Given the description of an element on the screen output the (x, y) to click on. 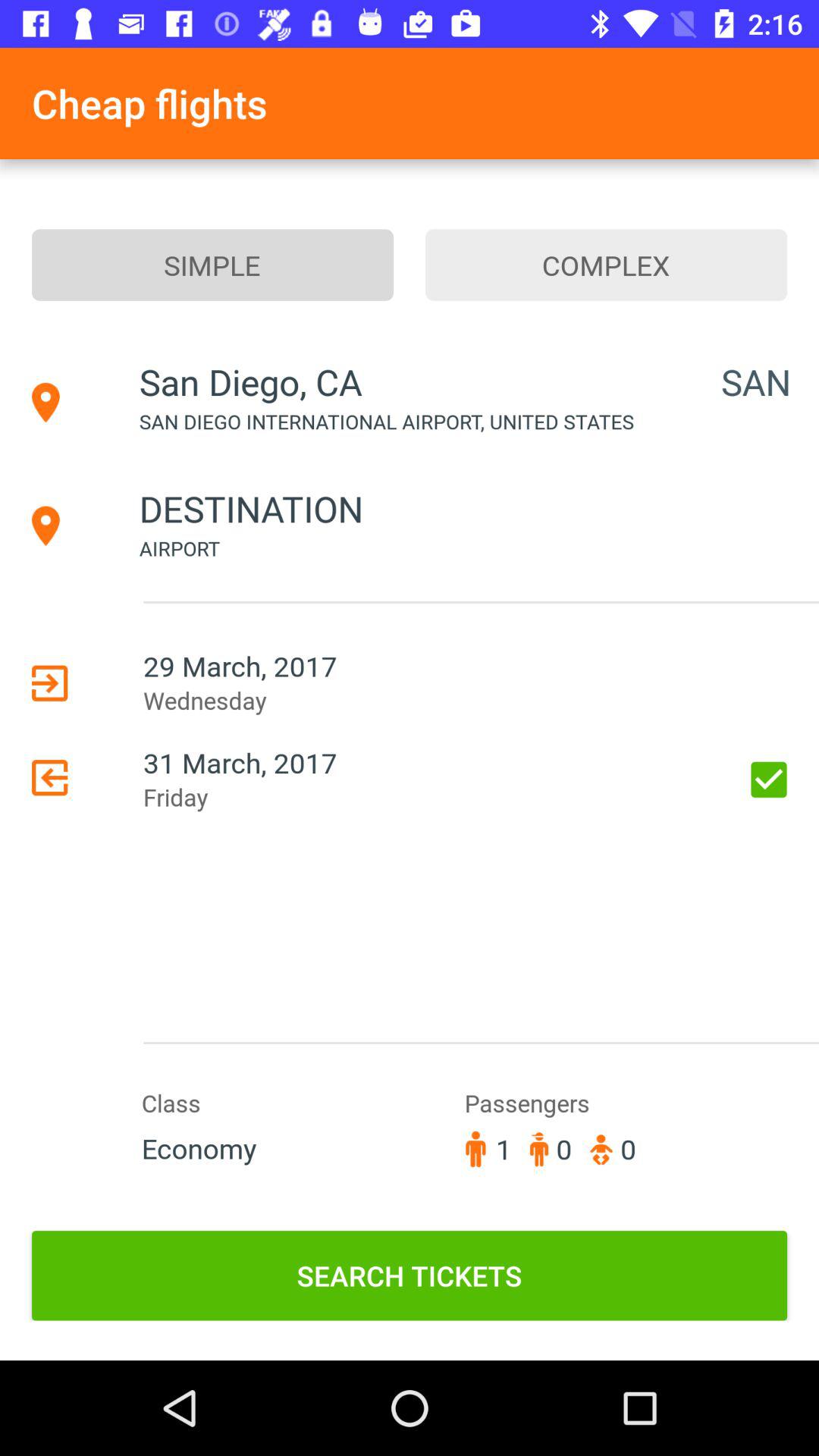
choose the icon to the right of the 31 march, 2017 item (768, 779)
